Given the description of an element on the screen output the (x, y) to click on. 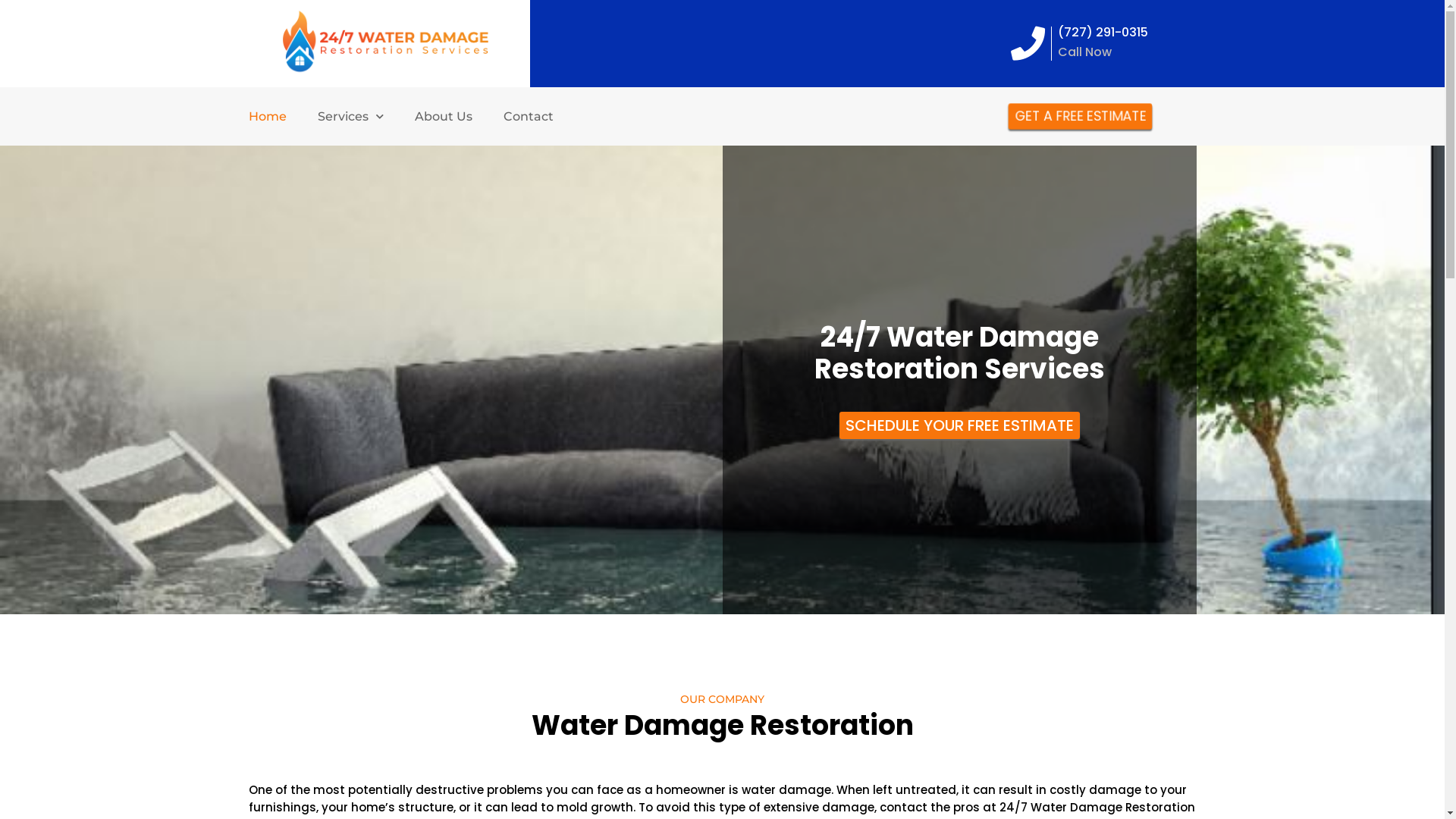
GET A FREE ESTIMATE Element type: text (1076, 115)
Home Element type: text (267, 116)
Contact Element type: text (528, 116)
Services Element type: text (349, 116)
(727) 291-0315 Element type: text (1102, 31)
About Us Element type: text (442, 116)
SCHEDULE YOUR FREE ESTIMATE Element type: text (958, 425)
